Given the description of an element on the screen output the (x, y) to click on. 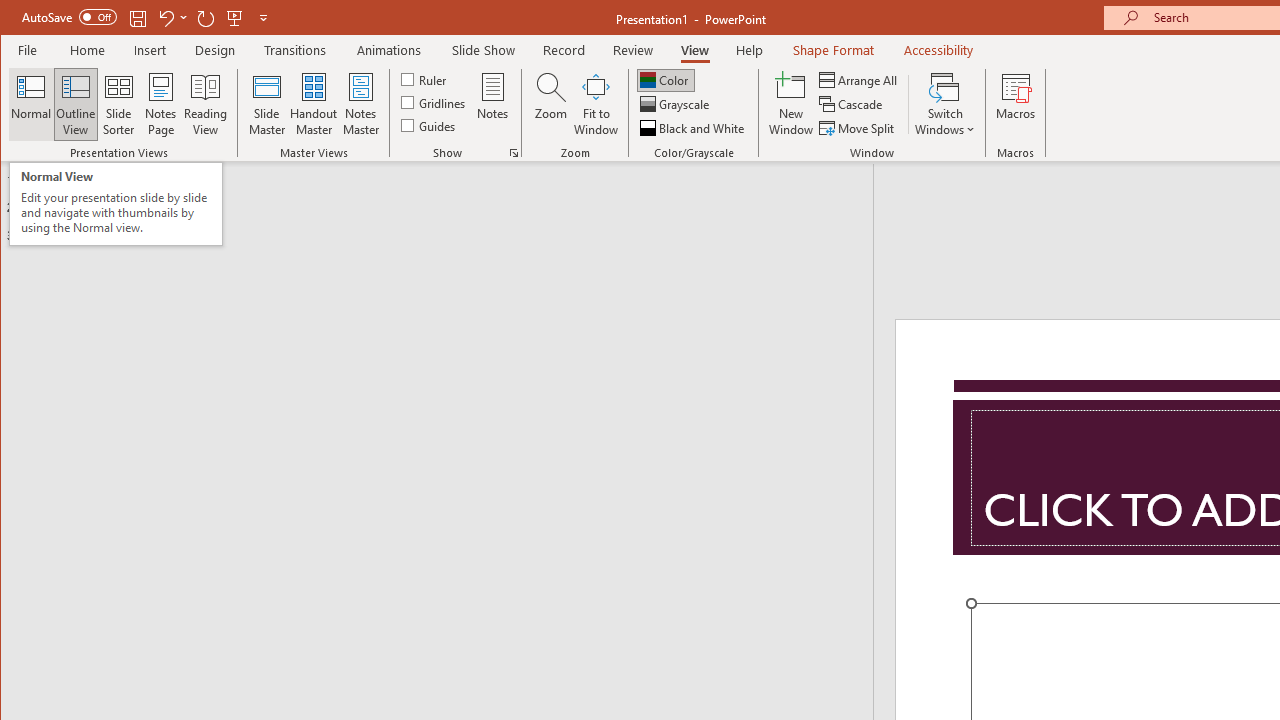
New Window (791, 104)
Notes Master (360, 104)
Switch Windows (944, 104)
Fit to Window (596, 104)
Notes (493, 104)
Notes Page (160, 104)
